Given the description of an element on the screen output the (x, y) to click on. 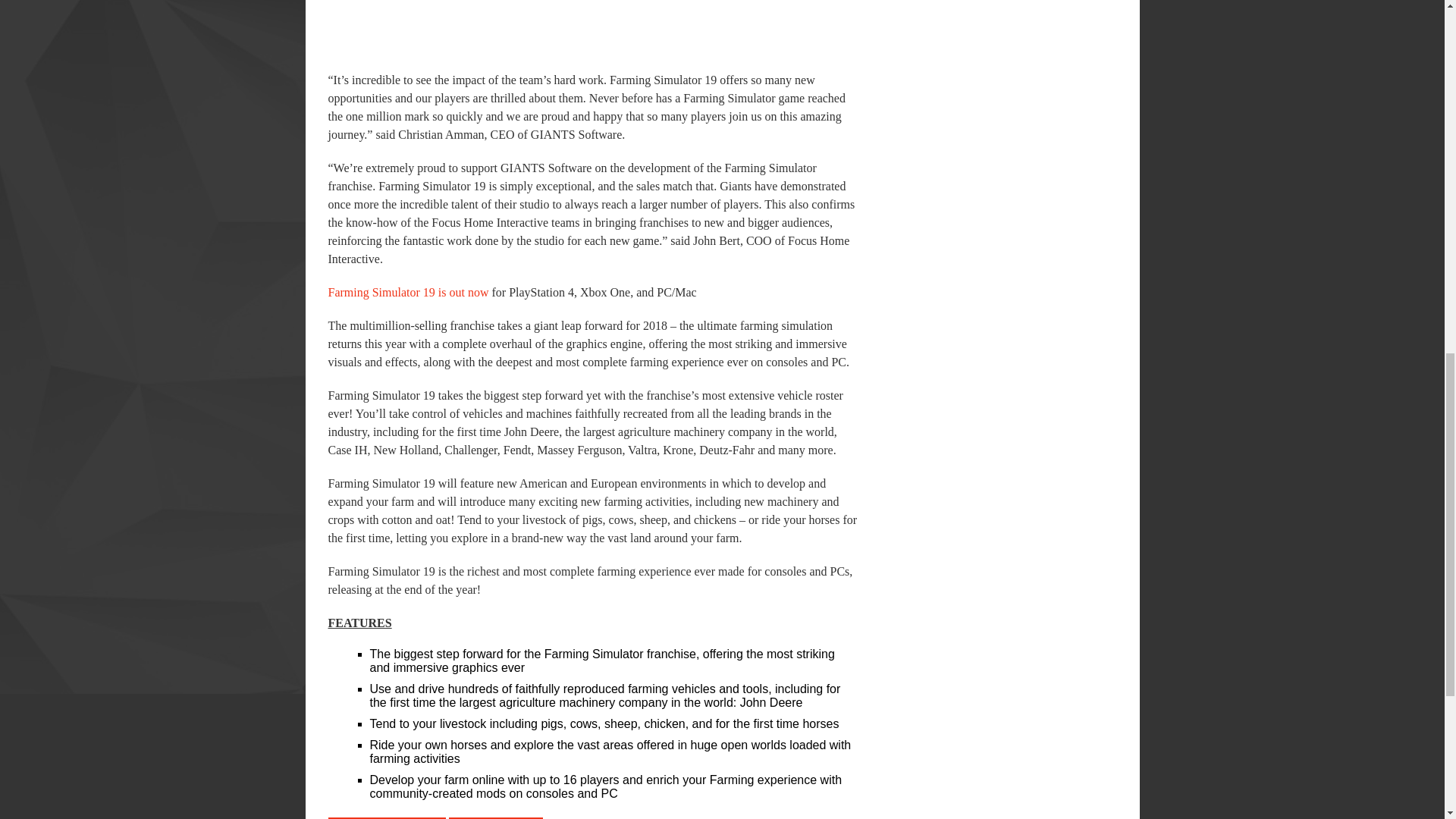
Farming Simulator 19 is out now (407, 291)
FARMING SIMULATOR 19 (386, 818)
SIMULATION GAME (494, 818)
